Given the description of an element on the screen output the (x, y) to click on. 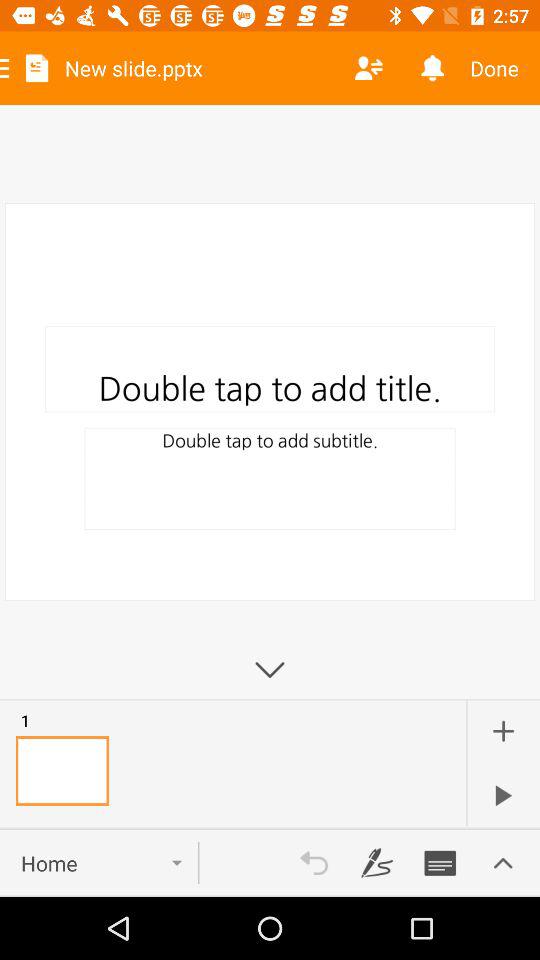
back (314, 863)
